Given the description of an element on the screen output the (x, y) to click on. 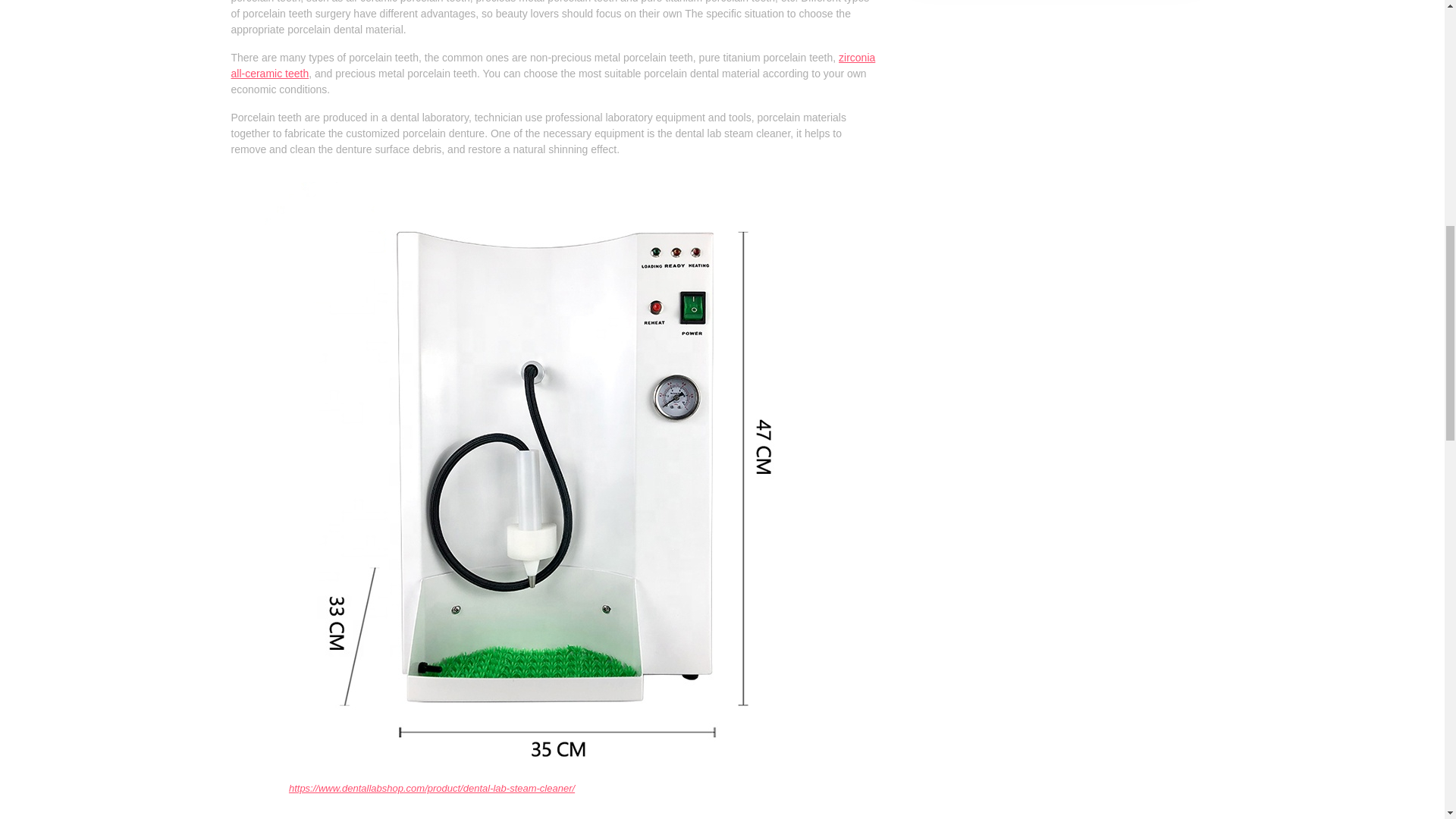
zirconia all-ceramic teeth (552, 65)
